Given the description of an element on the screen output the (x, y) to click on. 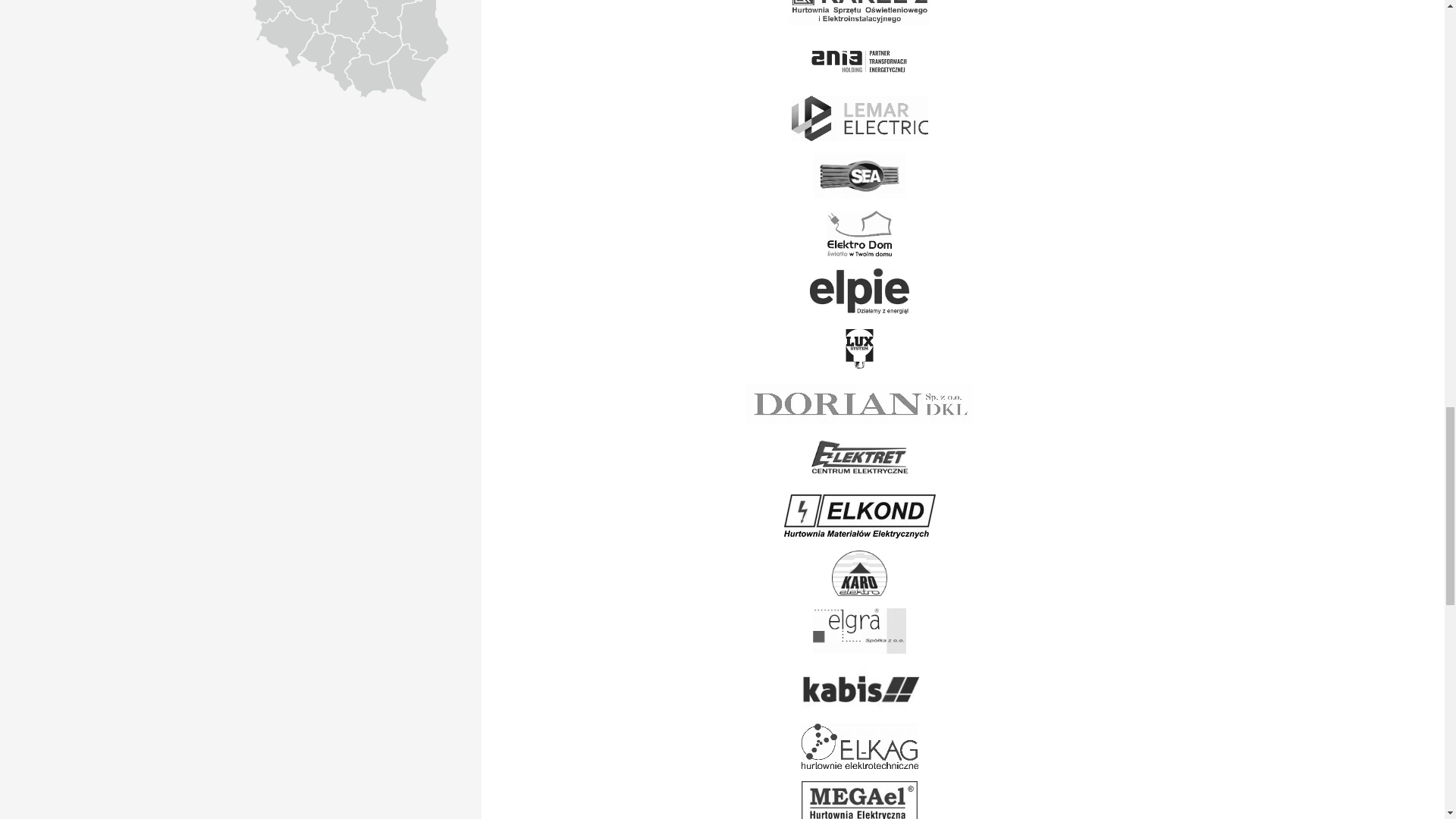
Lubuskie (269, 11)
Mazowieckie (386, 18)
Opolskie (316, 51)
